Given the description of an element on the screen output the (x, y) to click on. 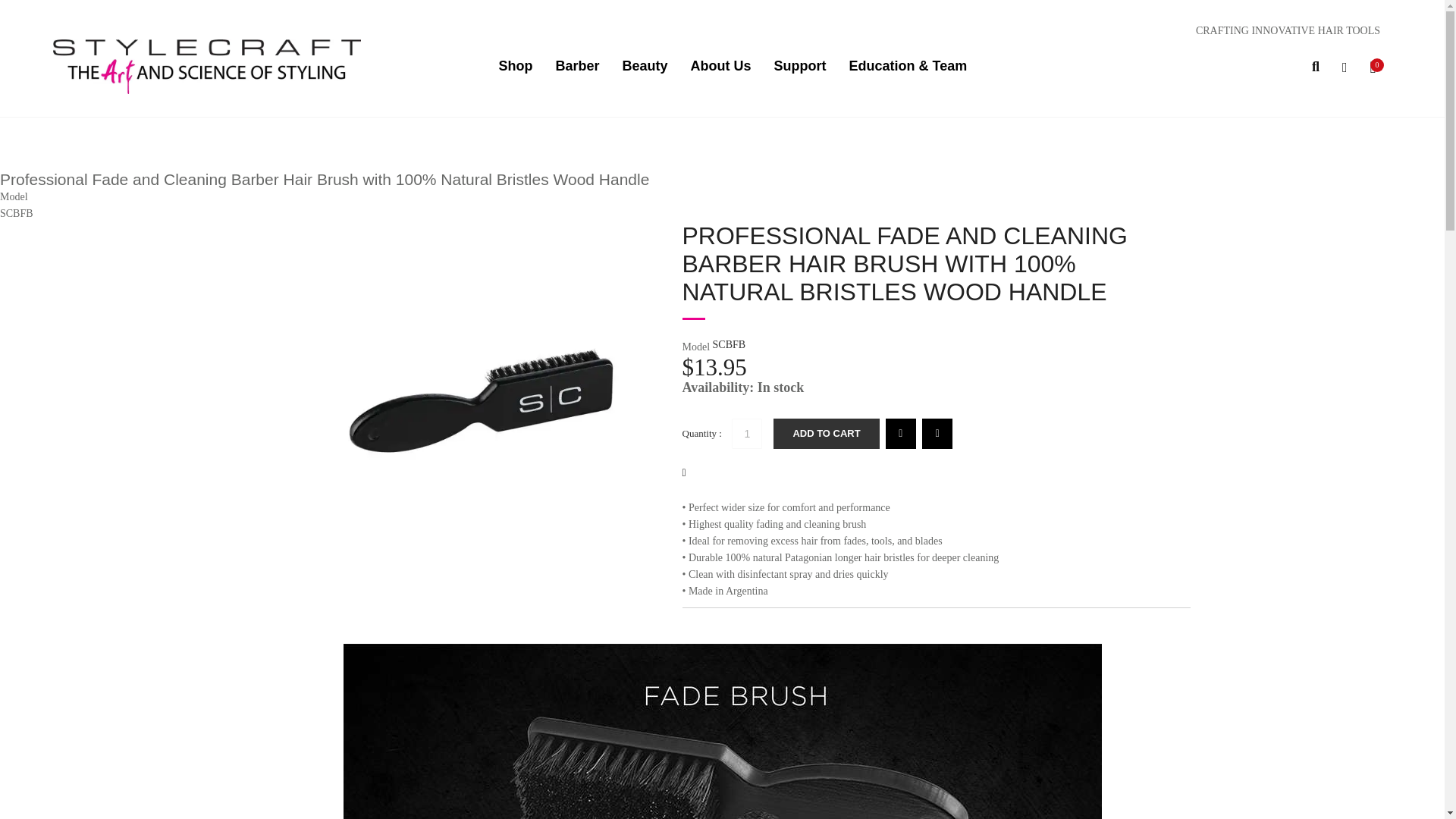
About Us (720, 66)
Availability (936, 387)
Support (800, 66)
Beauty (645, 66)
Barber (577, 66)
1 (746, 433)
Add to Cart (826, 433)
Shop (515, 66)
Quantity (746, 433)
